Given the description of an element on the screen output the (x, y) to click on. 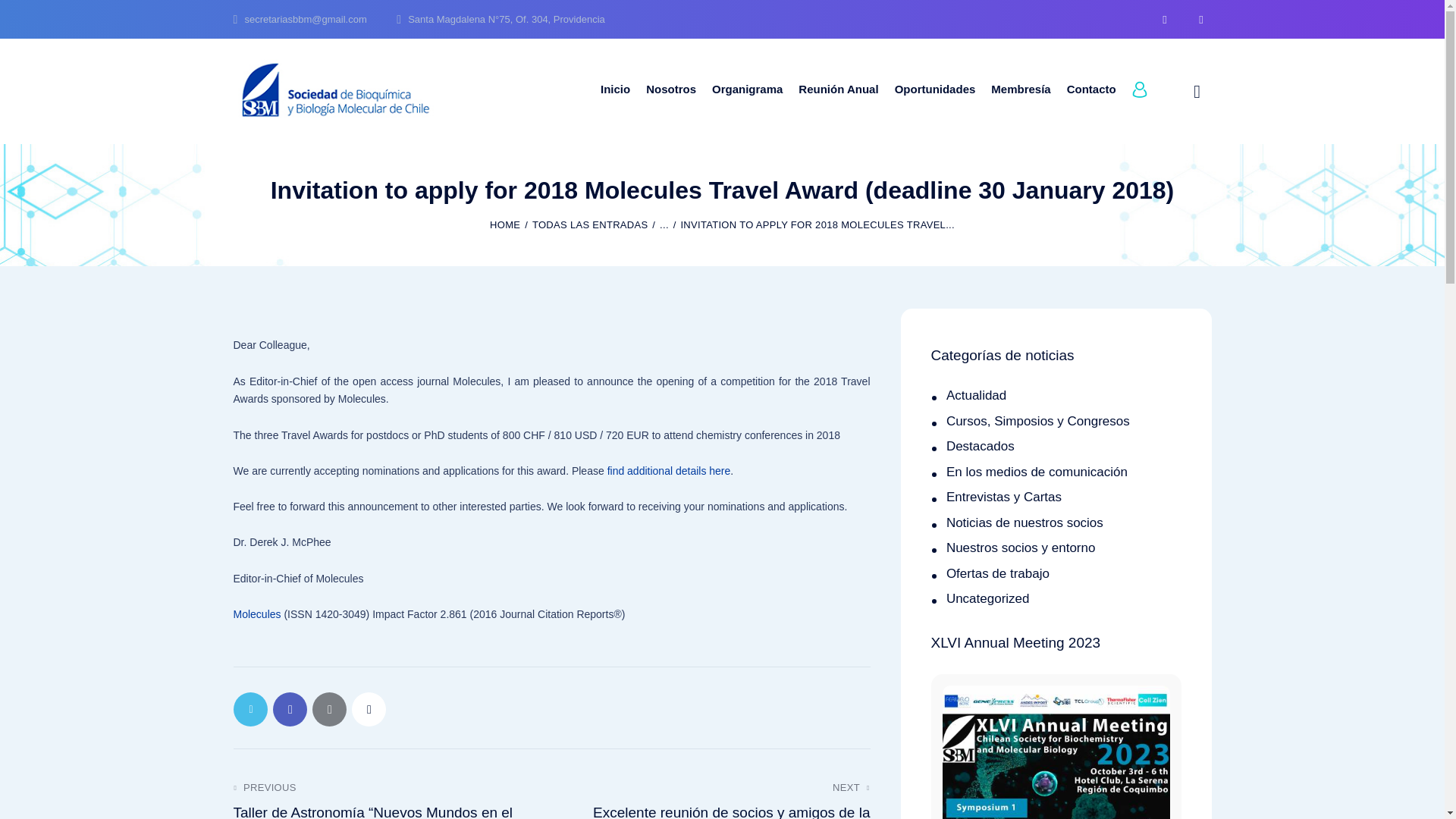
Contacto (1091, 90)
Organigrama (746, 90)
Copy URL to clipboard (368, 709)
Oportunidades (935, 90)
Inicio (614, 90)
Nosotros (671, 90)
